Given the description of an element on the screen output the (x, y) to click on. 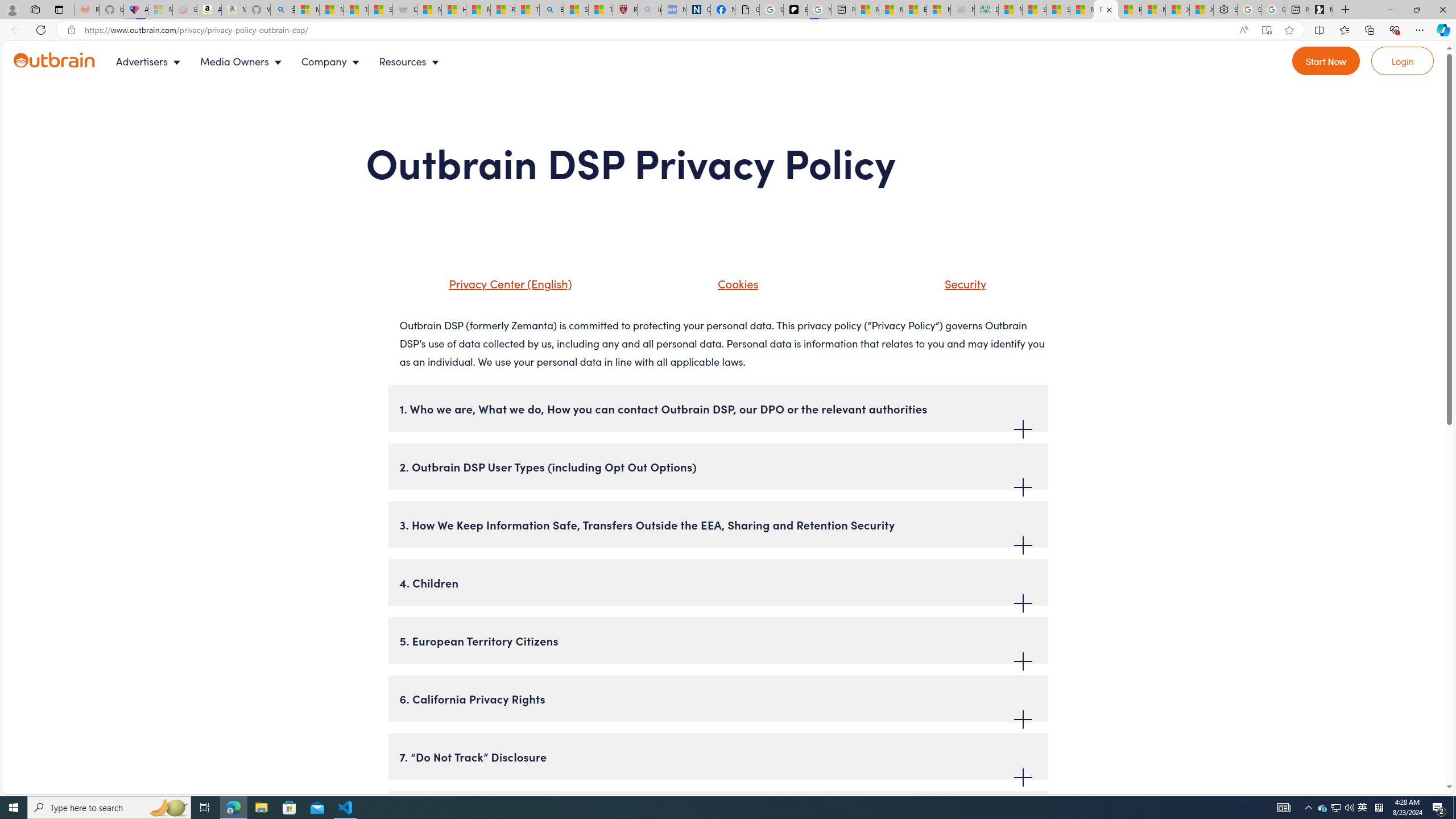
Recipes - MSN (502, 9)
How I Got Rid of Microsoft Edge's Unnecessary Features (453, 9)
Microsoft-Report a Concern to Bing - Sleeping (159, 9)
Navy Quest (962, 9)
Go to login (1402, 60)
Bing (551, 9)
